Given the description of an element on the screen output the (x, y) to click on. 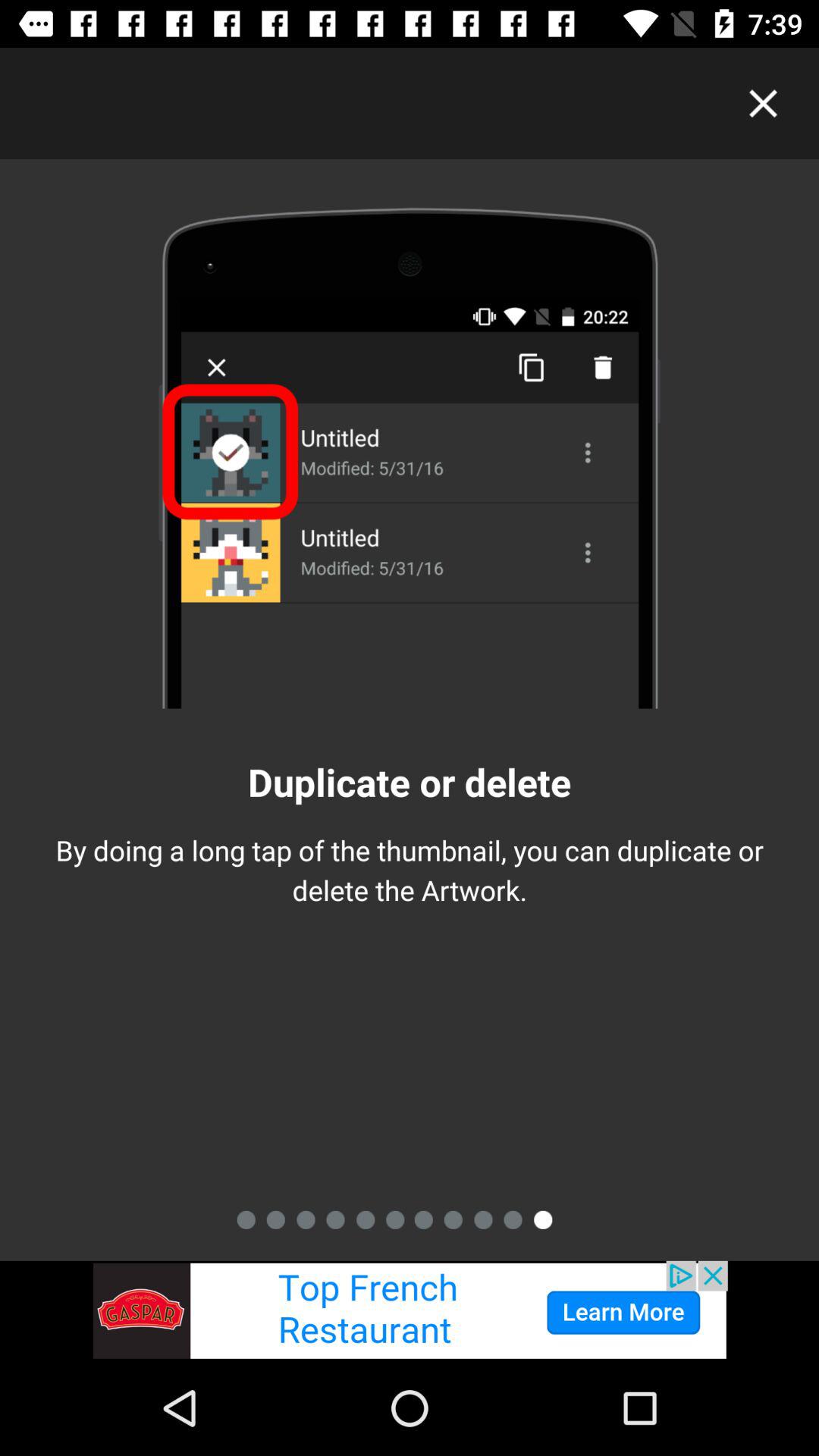
visit advertiser website (409, 1310)
